Given the description of an element on the screen output the (x, y) to click on. 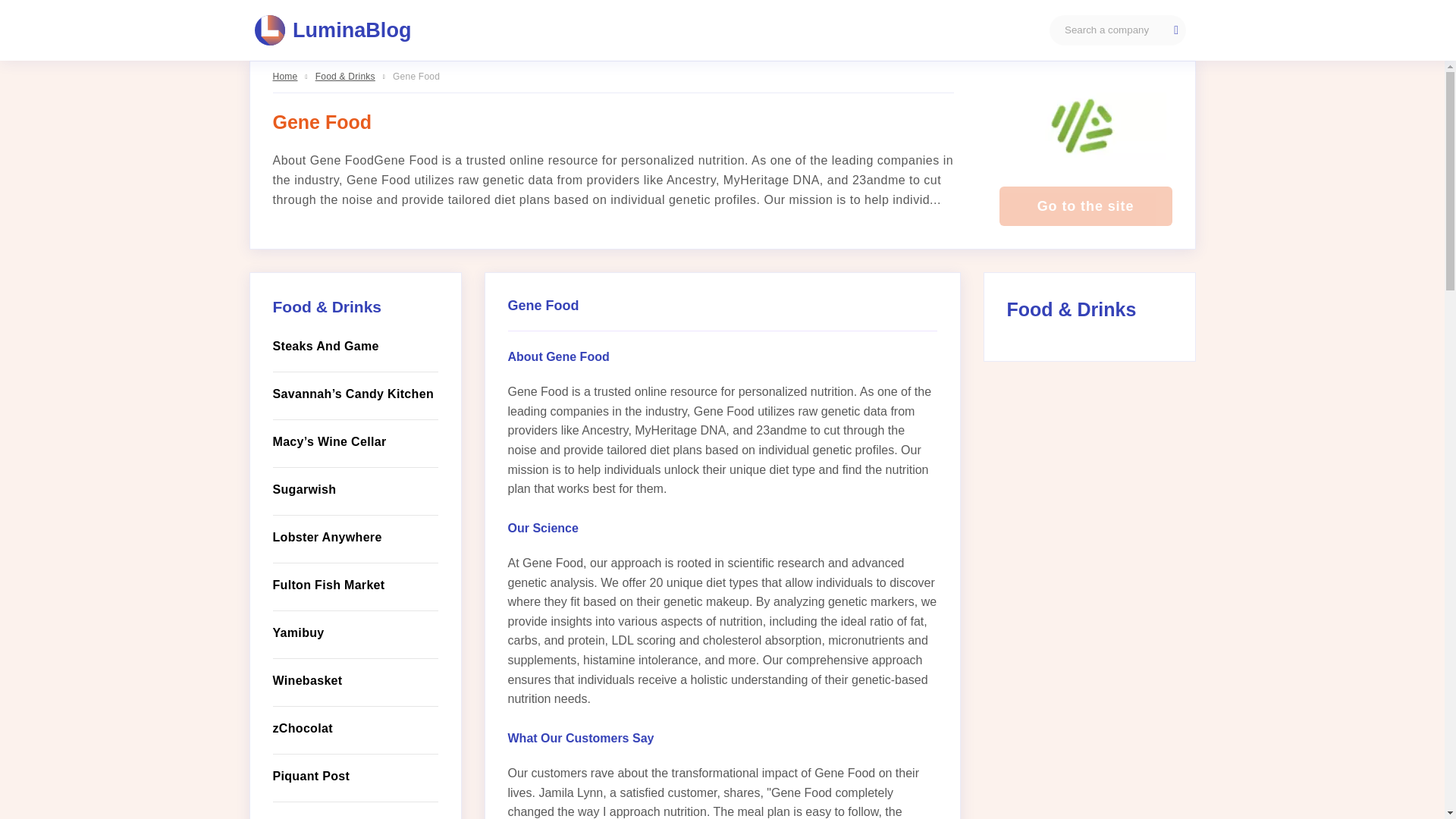
zChocolat (355, 728)
Lobster Anywhere (355, 537)
Sugarwish (355, 489)
Winebasket (355, 680)
Yamibuy (355, 632)
LuminaBlog (333, 30)
Winebasket (355, 680)
Lobster Anywhere (355, 537)
Go to the site (1085, 206)
LuminaBlog (333, 30)
Steaks And Game (355, 346)
Go to the site (1085, 206)
Yamibuy (355, 632)
Piquant Post (355, 776)
